Given the description of an element on the screen output the (x, y) to click on. 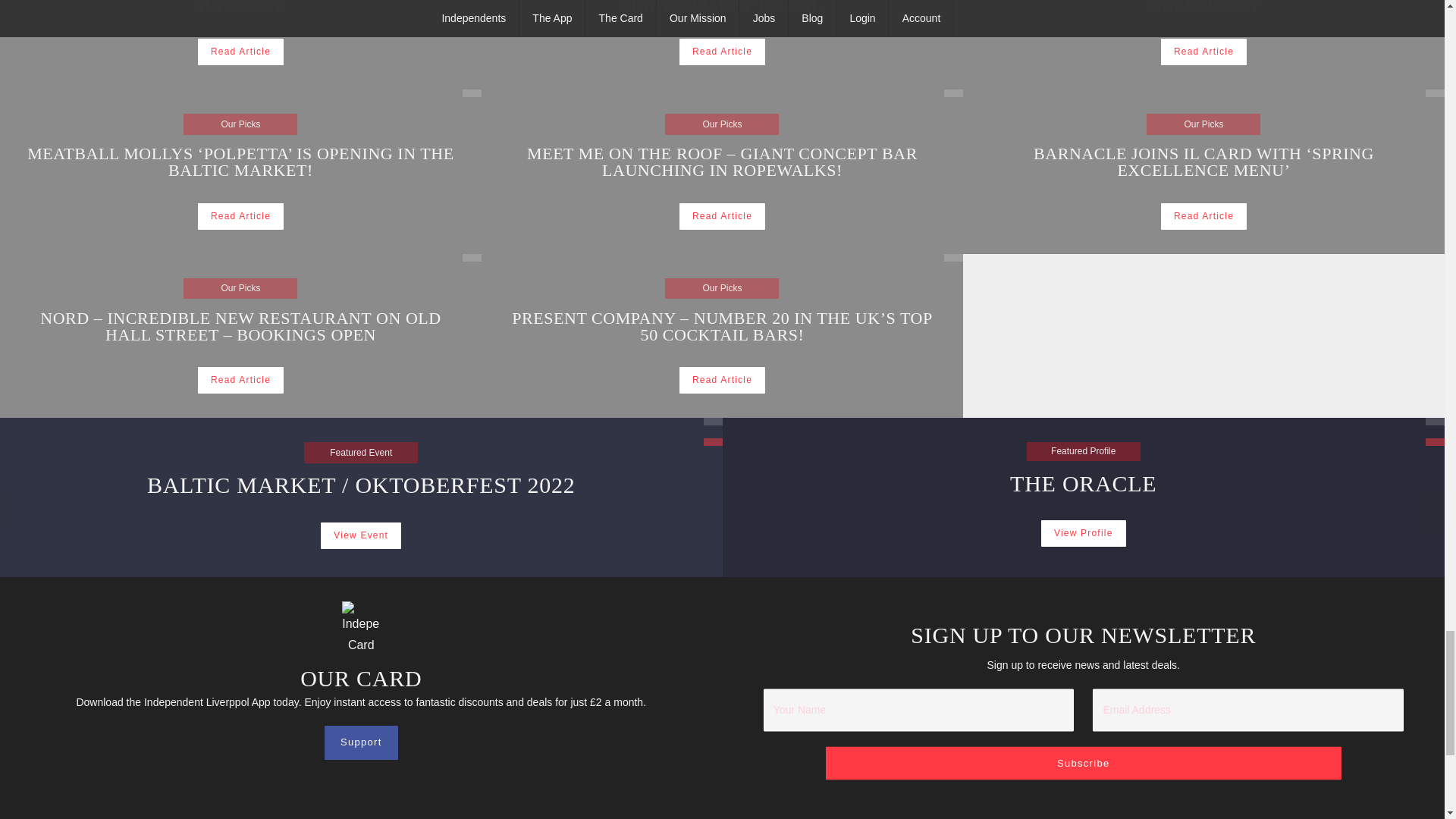
View All Posts (952, 257)
View All Posts (1204, 17)
Read Article (952, 93)
View All Posts (240, 51)
Subscribe (472, 257)
Read Article (1082, 763)
Read Article (722, 216)
Read Article (1203, 51)
View All Posts (722, 51)
Read Article (472, 93)
